Given the description of an element on the screen output the (x, y) to click on. 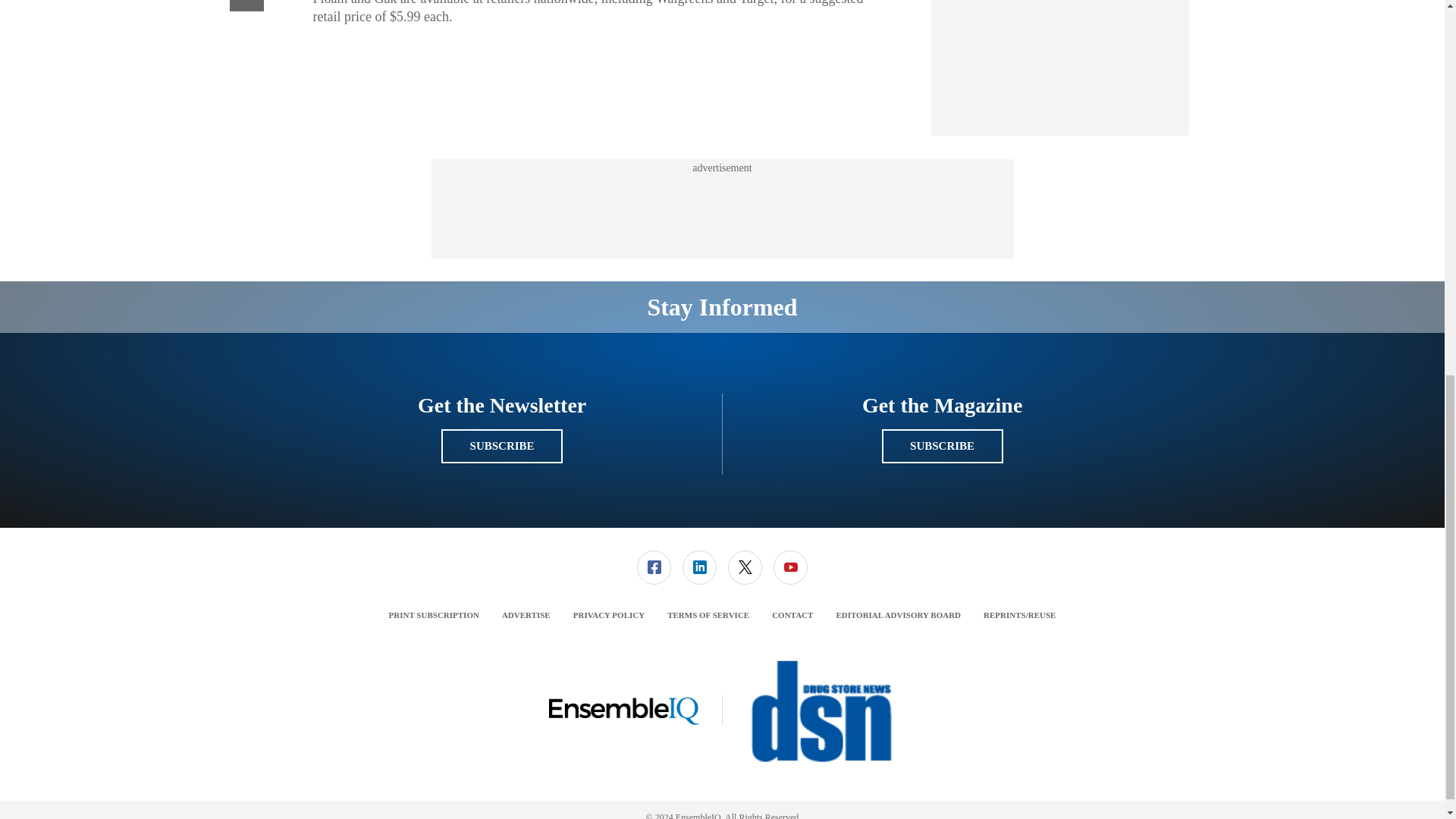
SUBSCRIBE (942, 446)
3rd party ad content (721, 209)
3rd party ad content (1059, 60)
SUBSCRIBE (501, 446)
